Given the description of an element on the screen output the (x, y) to click on. 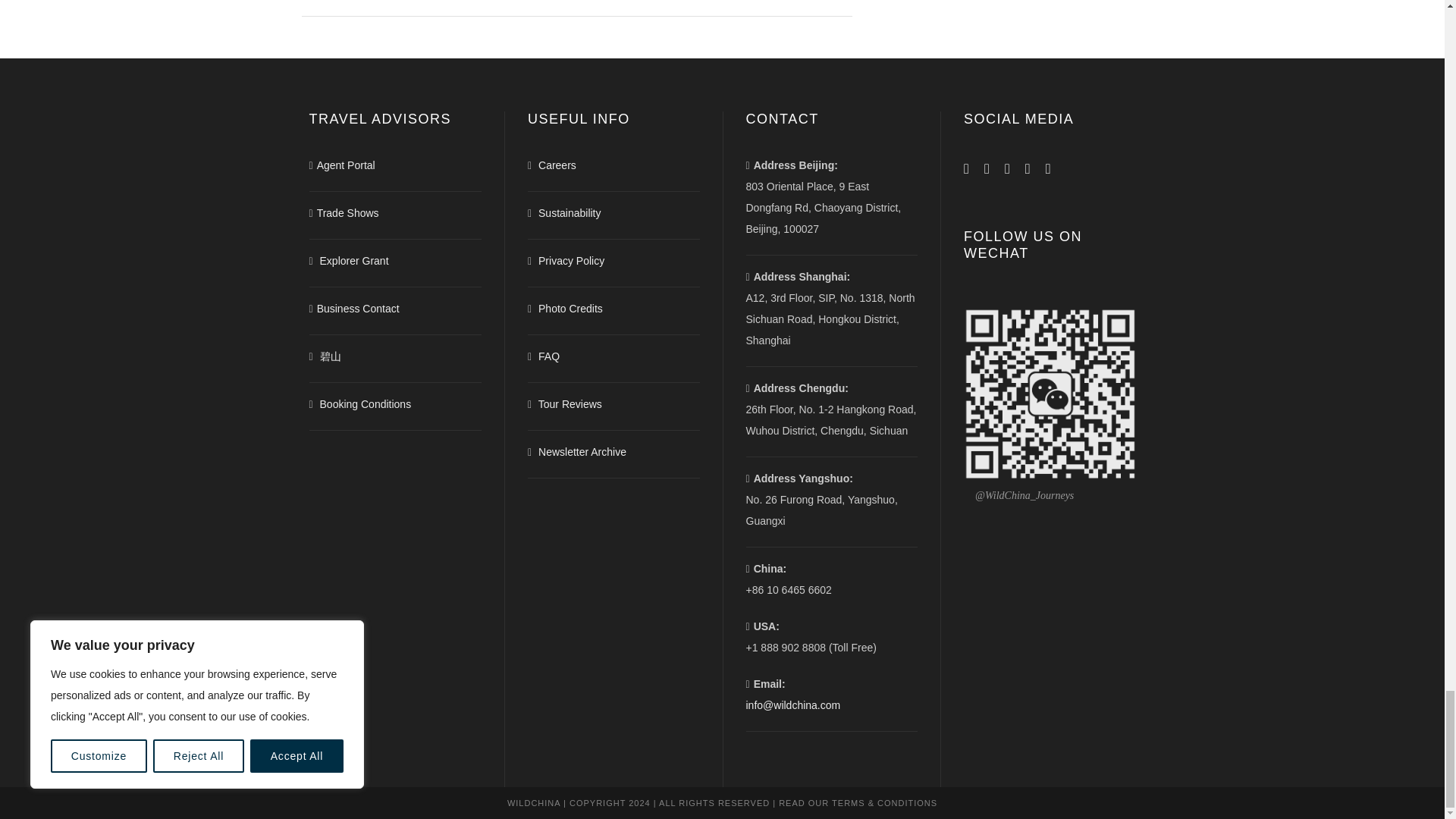
linkedin (987, 168)
facebook (966, 168)
